Given the description of an element on the screen output the (x, y) to click on. 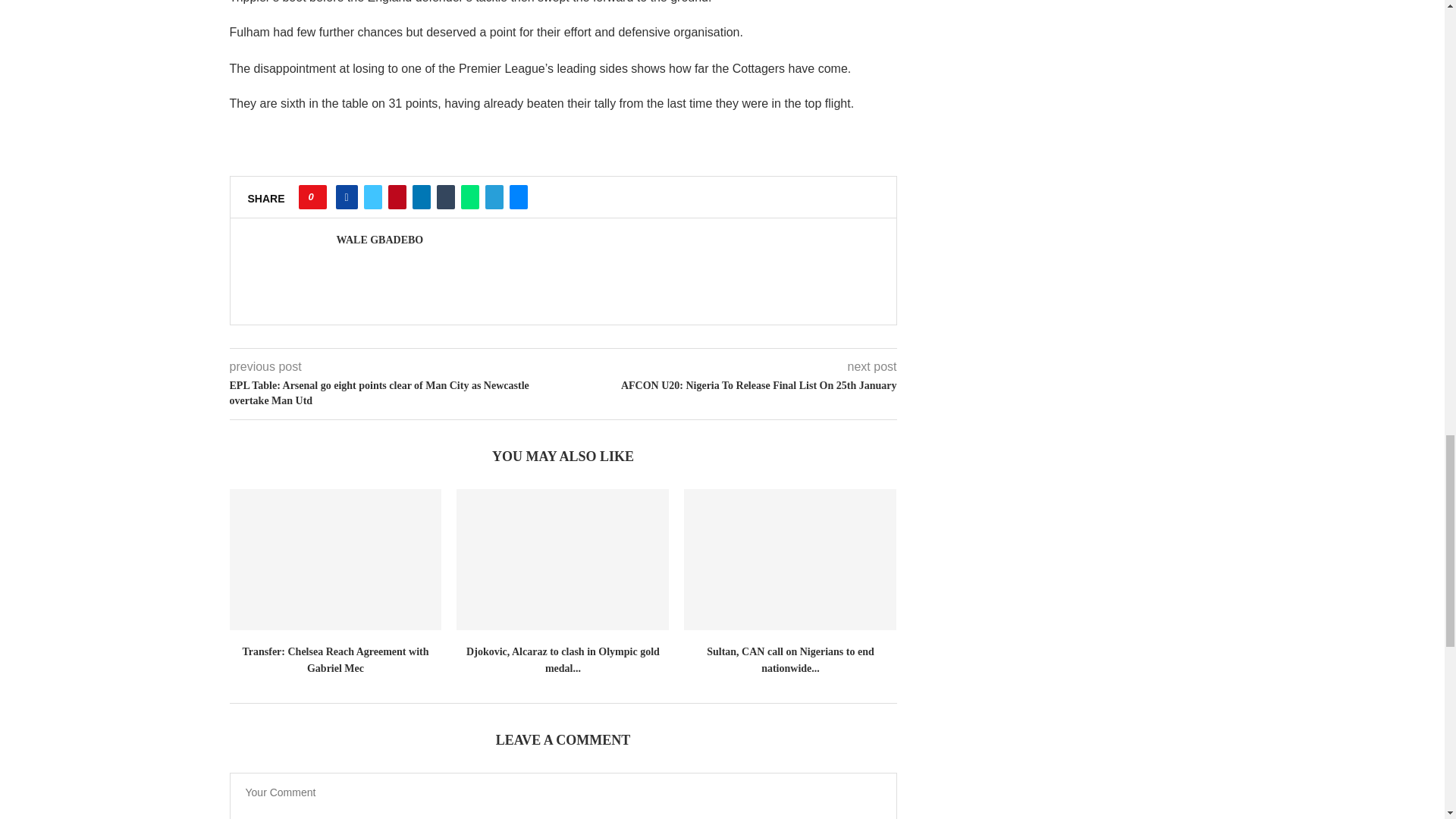
Djokovic, Alcaraz to clash in Olympic gold medal showdown (562, 559)
Sultan, CAN call on Nigerians to end nationwide protest (790, 559)
Transfer: Chelsea Reach Agreement with Gabriel Mec (334, 559)
Author Wale Gbadebo (379, 240)
